Given the description of an element on the screen output the (x, y) to click on. 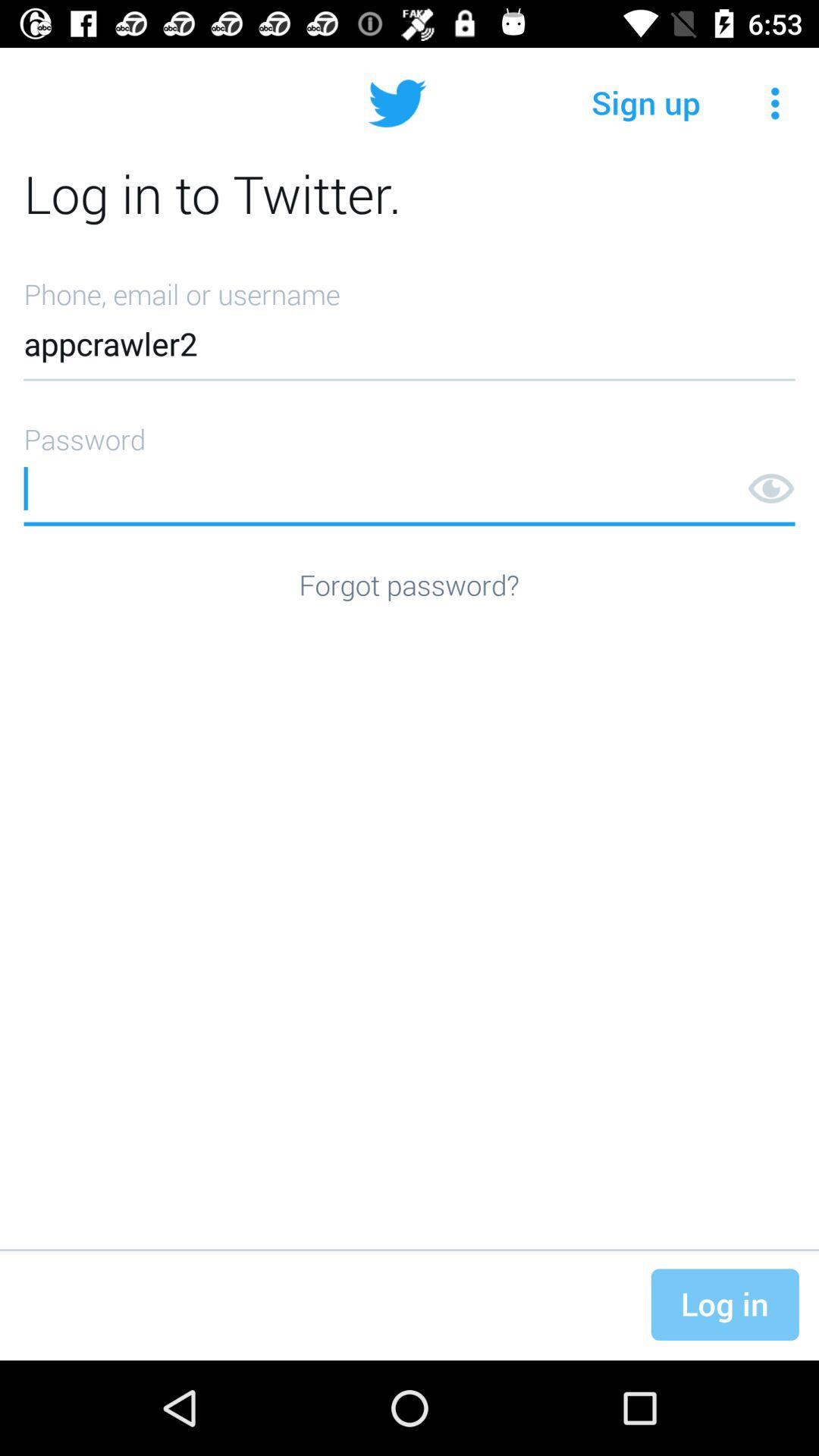
jump to forgot password? (409, 584)
